Given the description of an element on the screen output the (x, y) to click on. 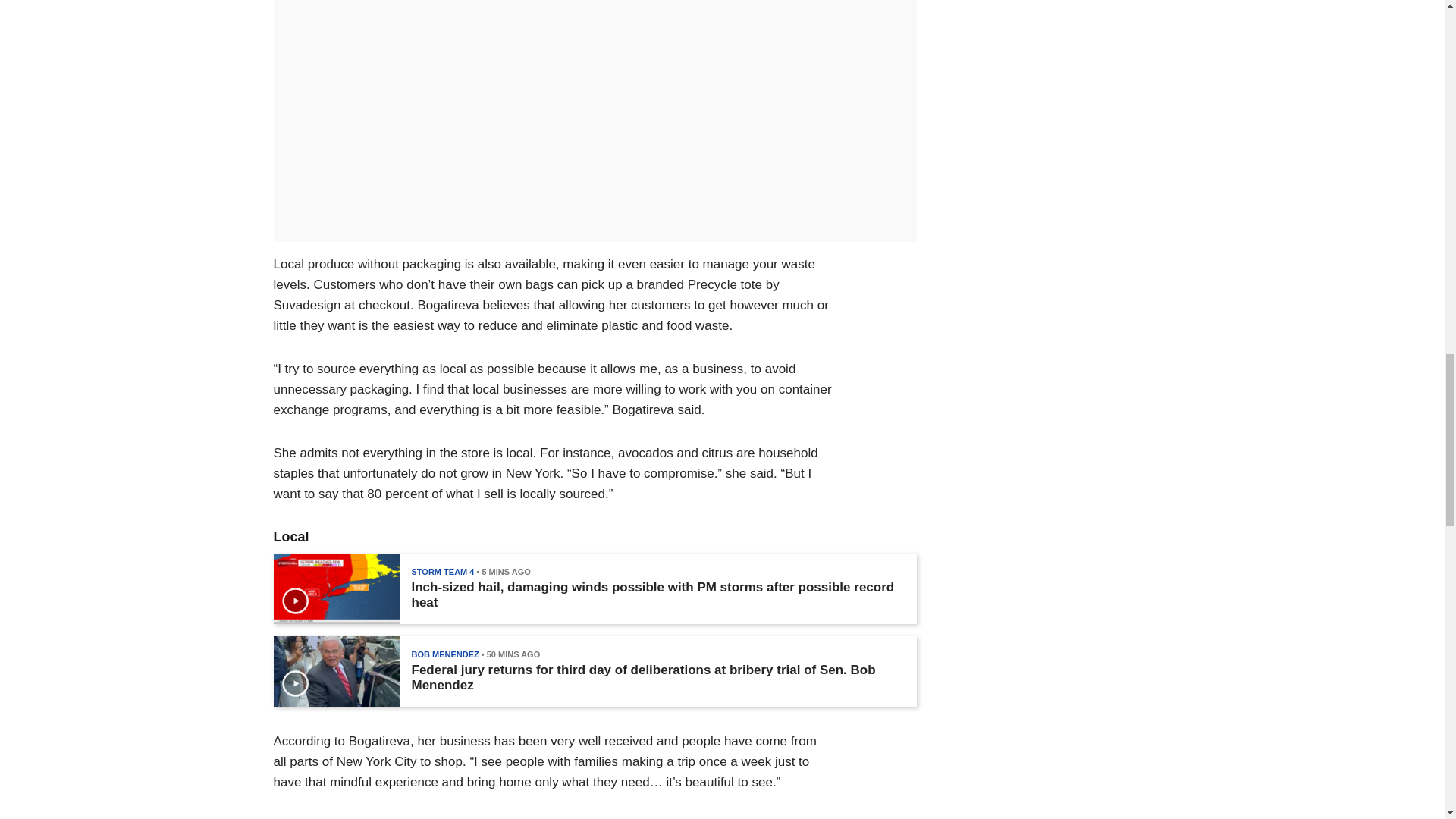
STORM TEAM 4 (442, 571)
BOB MENENDEZ (444, 654)
